Given the description of an element on the screen output the (x, y) to click on. 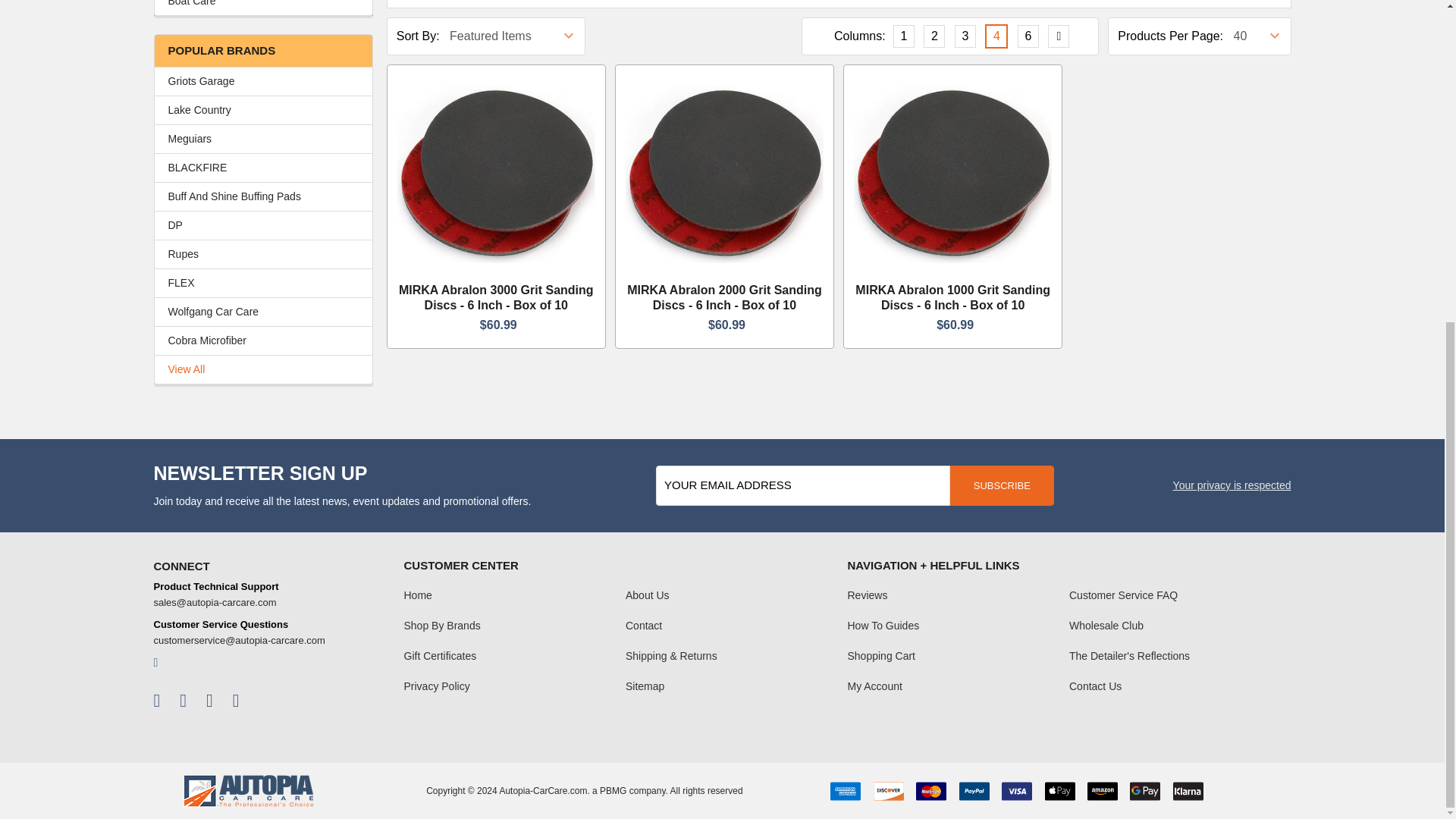
Meguiars (263, 139)
Griots Garage (263, 81)
Lake Country (263, 109)
BLACKFIRE (263, 167)
Buff And Shine Buffing Pads (263, 196)
DP (263, 225)
3 (965, 35)
4 (996, 35)
Rupes (263, 254)
6 (1027, 35)
